Given the description of an element on the screen output the (x, y) to click on. 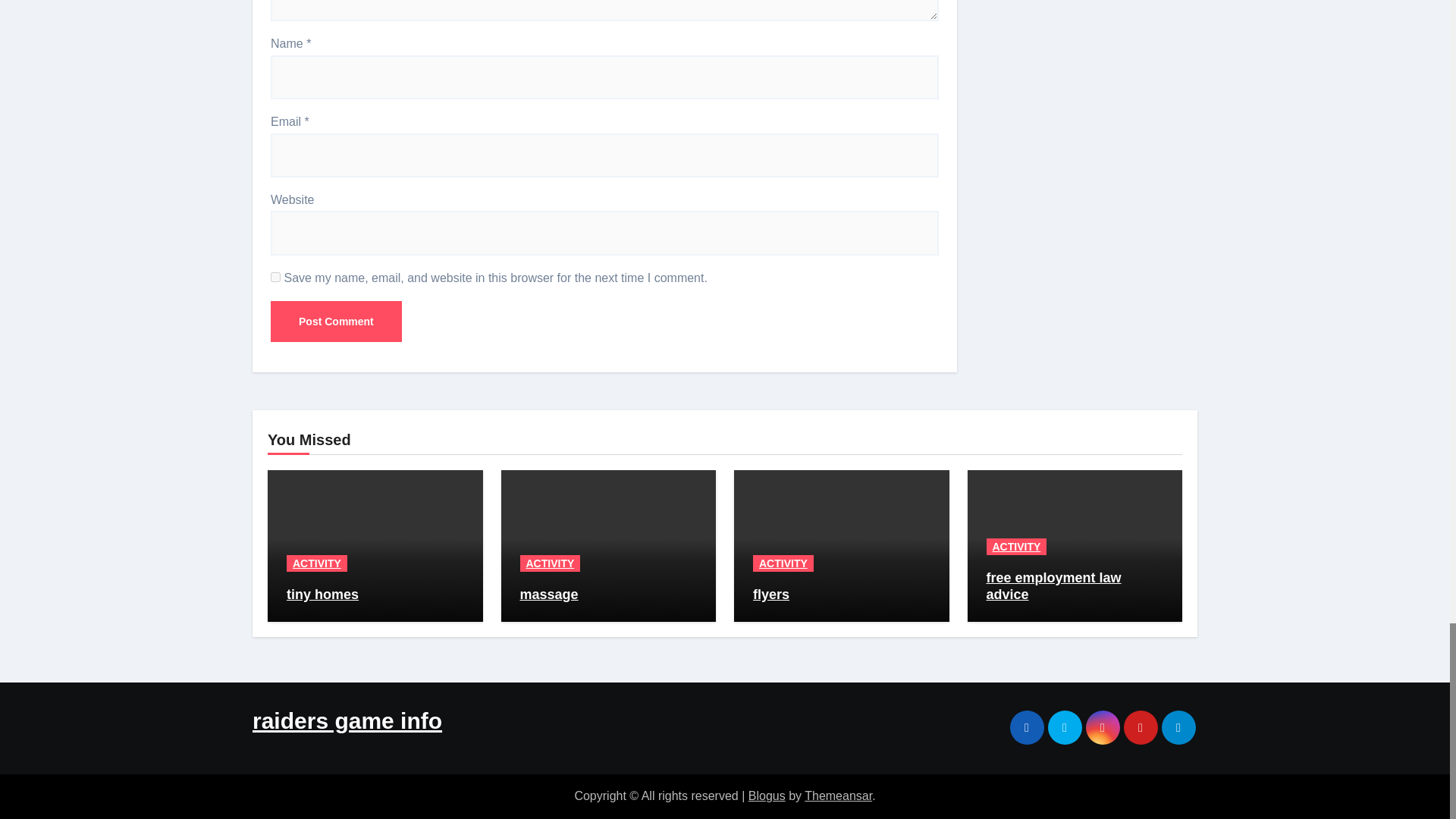
Permalink to: free employment law advice (1053, 585)
Permalink to: flyers (770, 594)
Post Comment (335, 321)
Permalink to: tiny homes (322, 594)
Permalink to: massage (548, 594)
yes (275, 276)
